Given the description of an element on the screen output the (x, y) to click on. 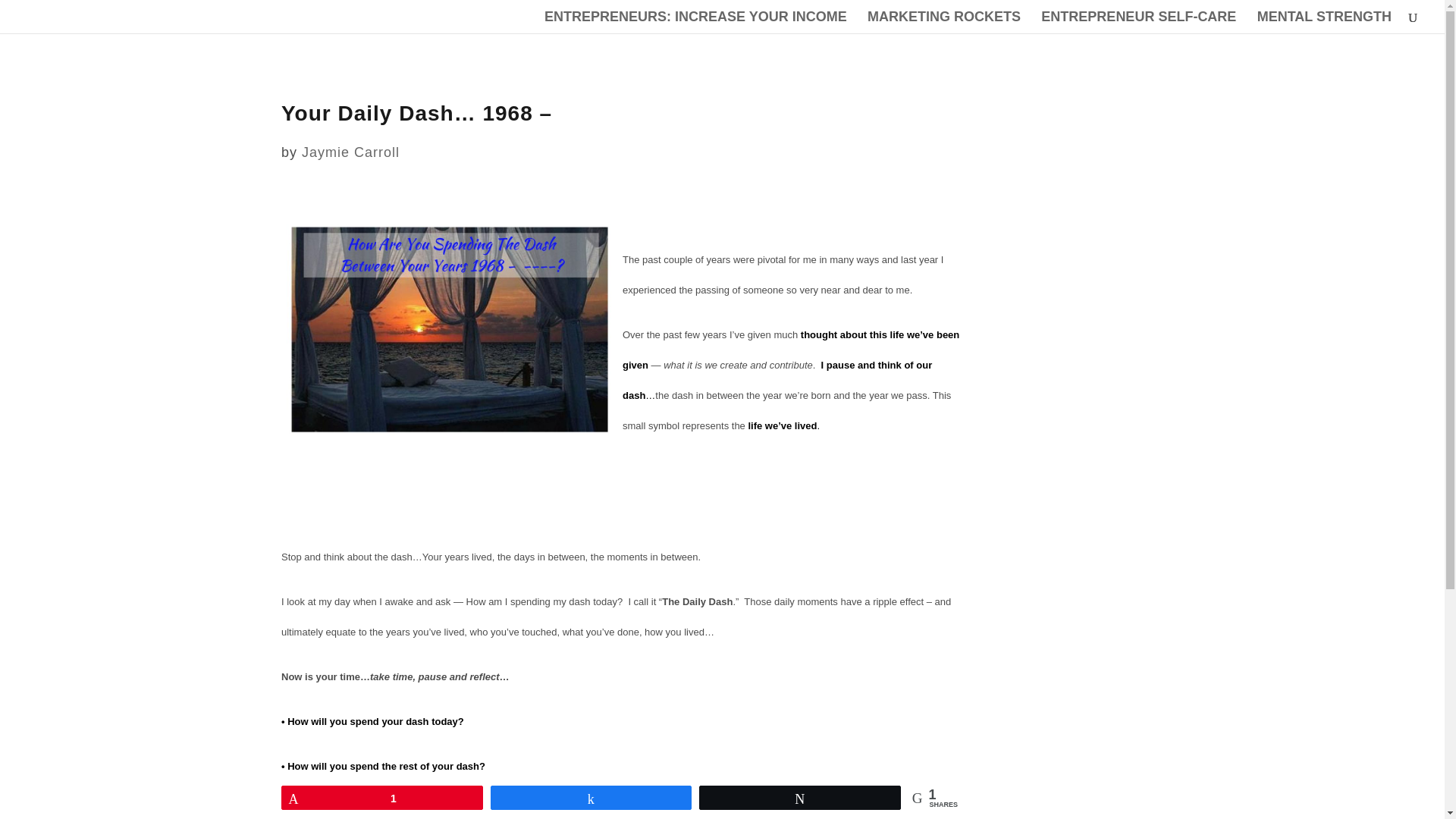
Jaymie Carroll (349, 151)
ENTREPRENEURS: INCREASE YOUR INCOME (695, 22)
ENTREPRENEUR SELF-CARE (1138, 22)
Posts by Jaymie Carroll (349, 151)
MARKETING ROCKETS (943, 22)
MENTAL STRENGTH (1324, 22)
1 (381, 797)
